Given the description of an element on the screen output the (x, y) to click on. 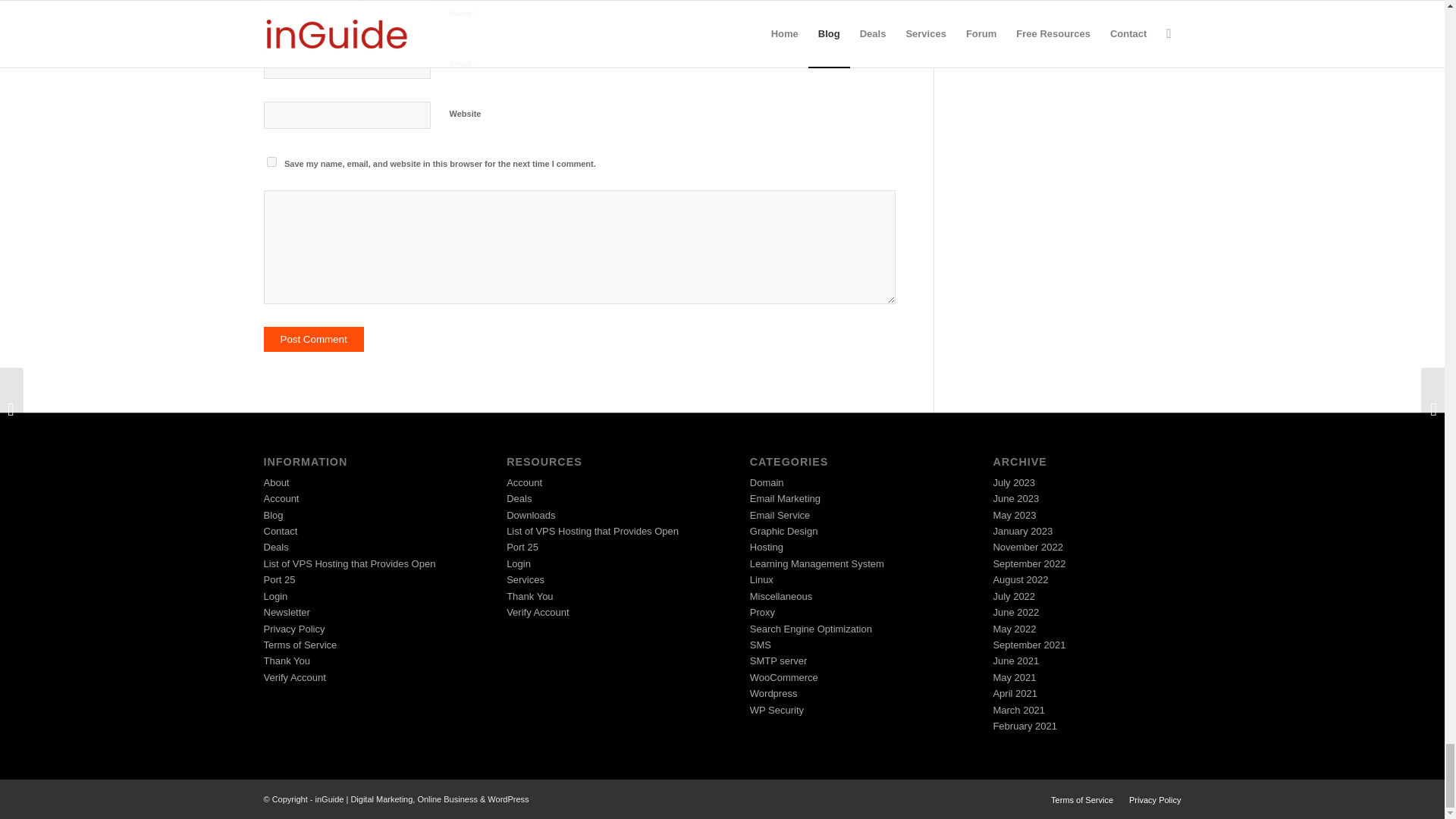
1 (456, 195)
yes (271, 162)
Post Comment (313, 339)
